Given the description of an element on the screen output the (x, y) to click on. 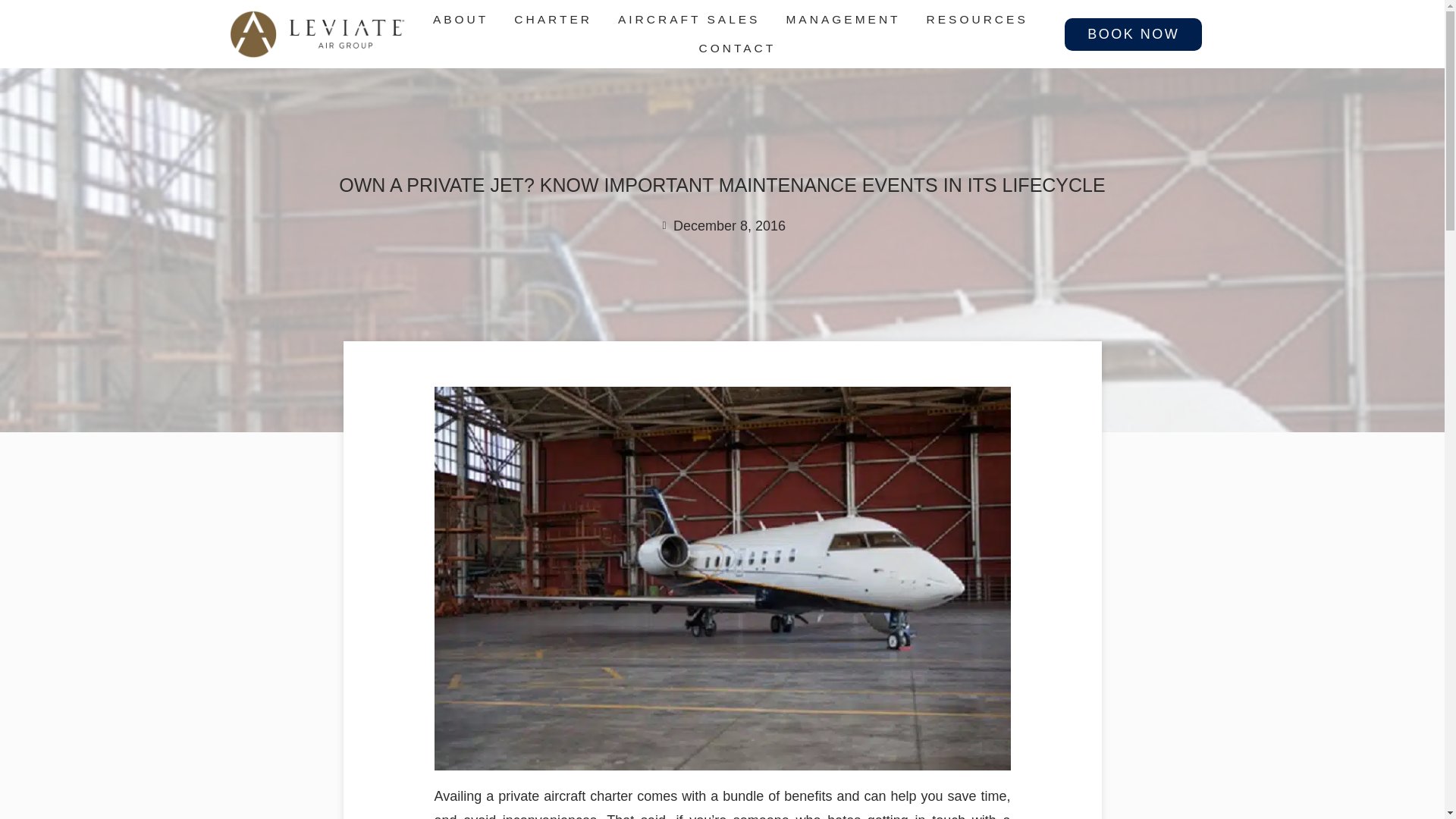
RESOURCES (980, 19)
MANAGEMENT (846, 19)
AIRCRAFT SALES (692, 19)
CHARTER (556, 19)
CONTACT (737, 48)
ABOUT (463, 19)
